Given the description of an element on the screen output the (x, y) to click on. 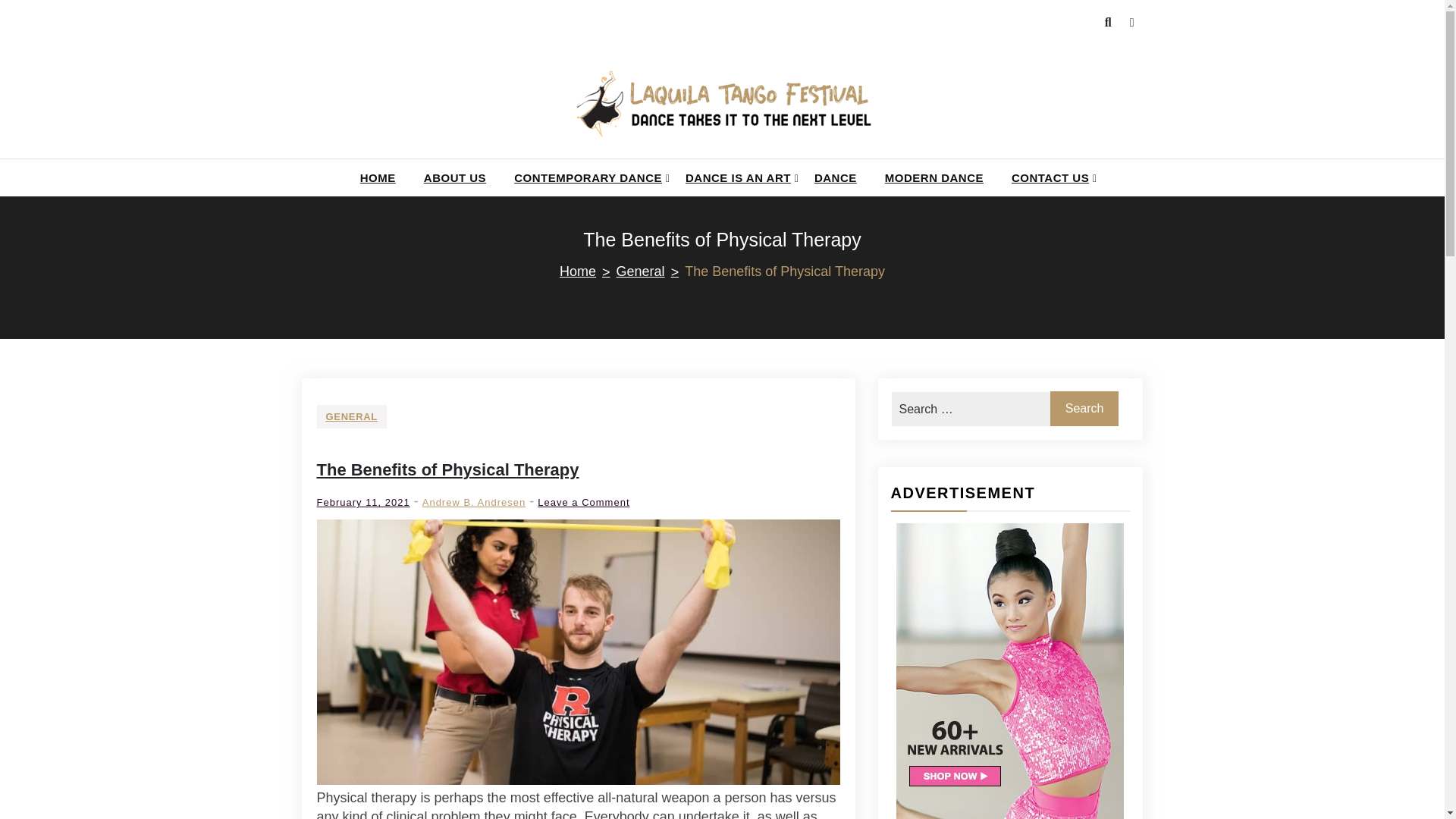
Andrew B. Andresen (473, 501)
Search (1084, 408)
General (650, 271)
HOME (377, 177)
CONTEMPORARY DANCE (585, 177)
The Benefits of Physical Therapy (448, 469)
February 11, 2021 (363, 501)
DANCE IS AN ART (734, 177)
Home (587, 271)
Search (1084, 408)
Search (1084, 408)
MODERN DANCE (933, 177)
ABOUT US (582, 501)
DANCE (454, 177)
